Given the description of an element on the screen output the (x, y) to click on. 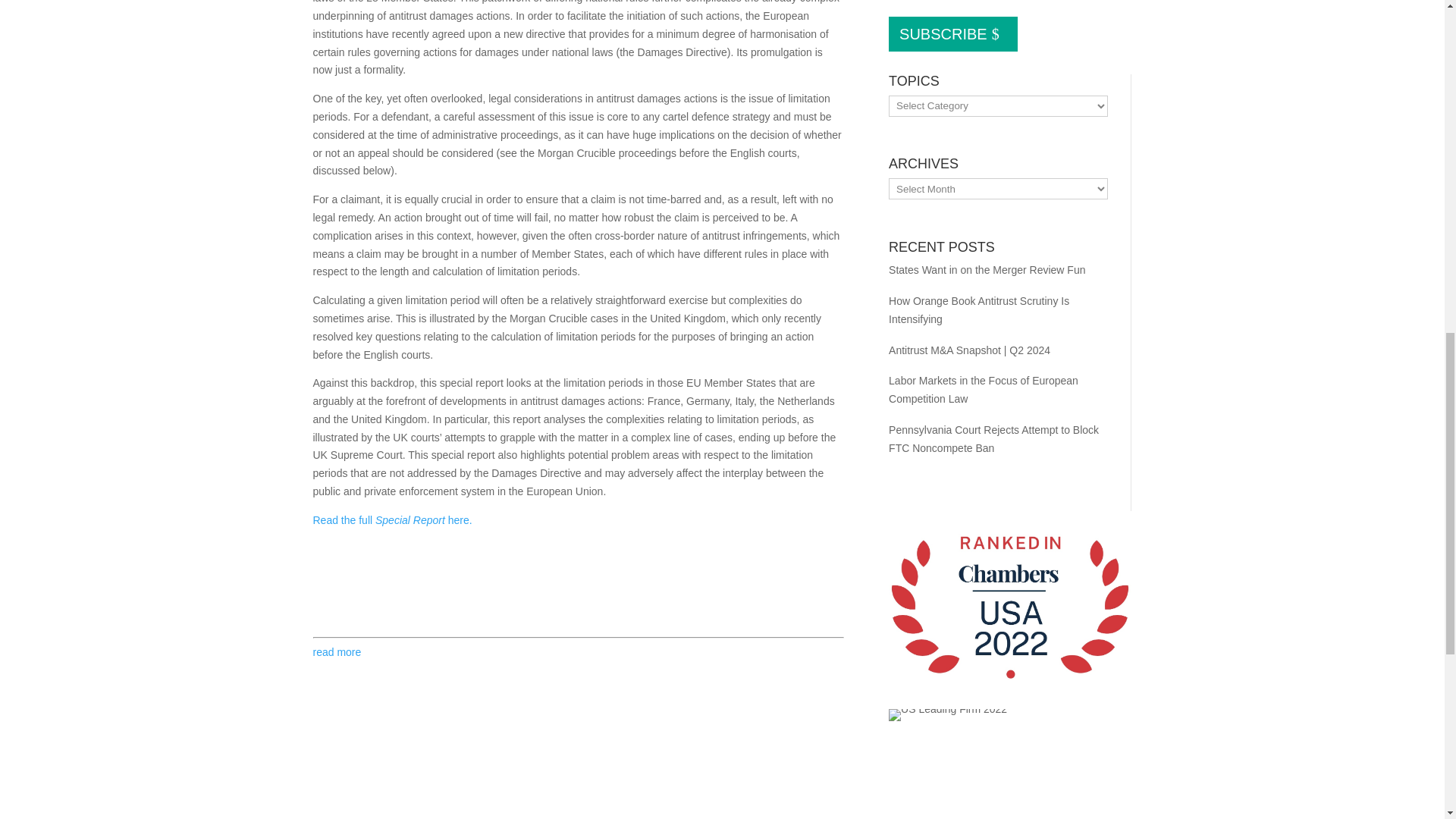
Share on Facebook (415, 588)
E-Mail (354, 588)
Share on X (384, 588)
Share on LinkedIn (445, 588)
Print (324, 588)
